Given the description of an element on the screen output the (x, y) to click on. 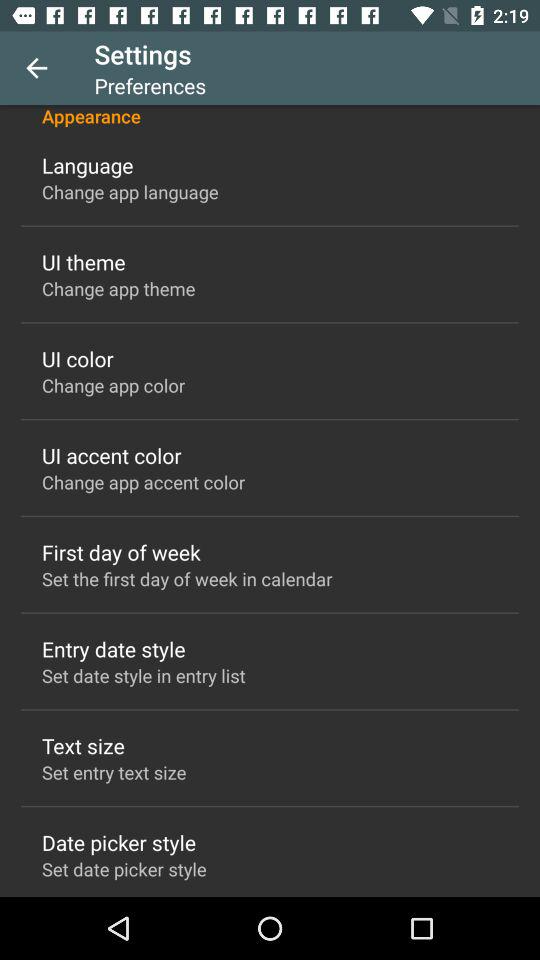
turn on the app next to the settings app (36, 68)
